Given the description of an element on the screen output the (x, y) to click on. 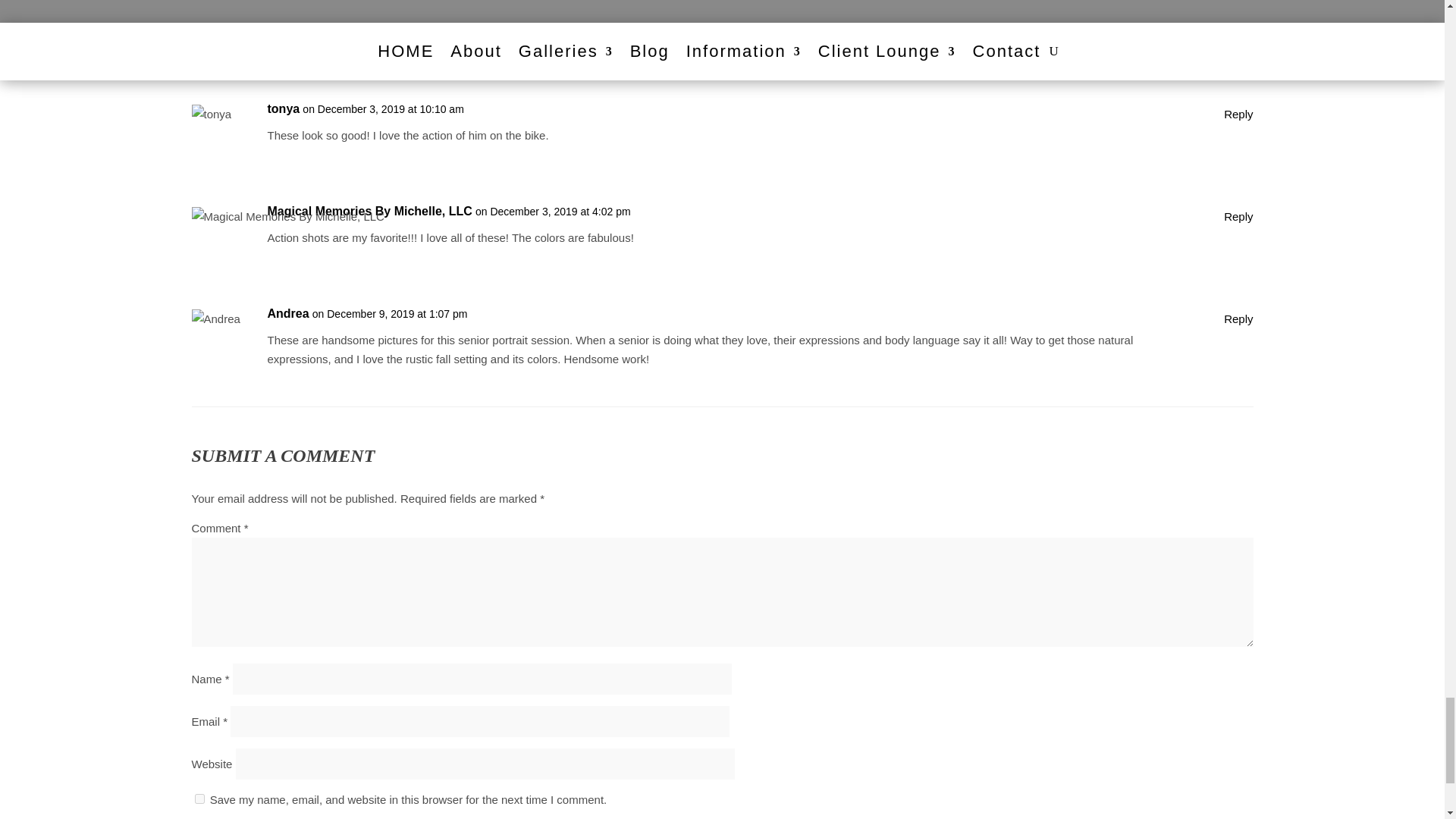
yes (198, 798)
